Given the description of an element on the screen output the (x, y) to click on. 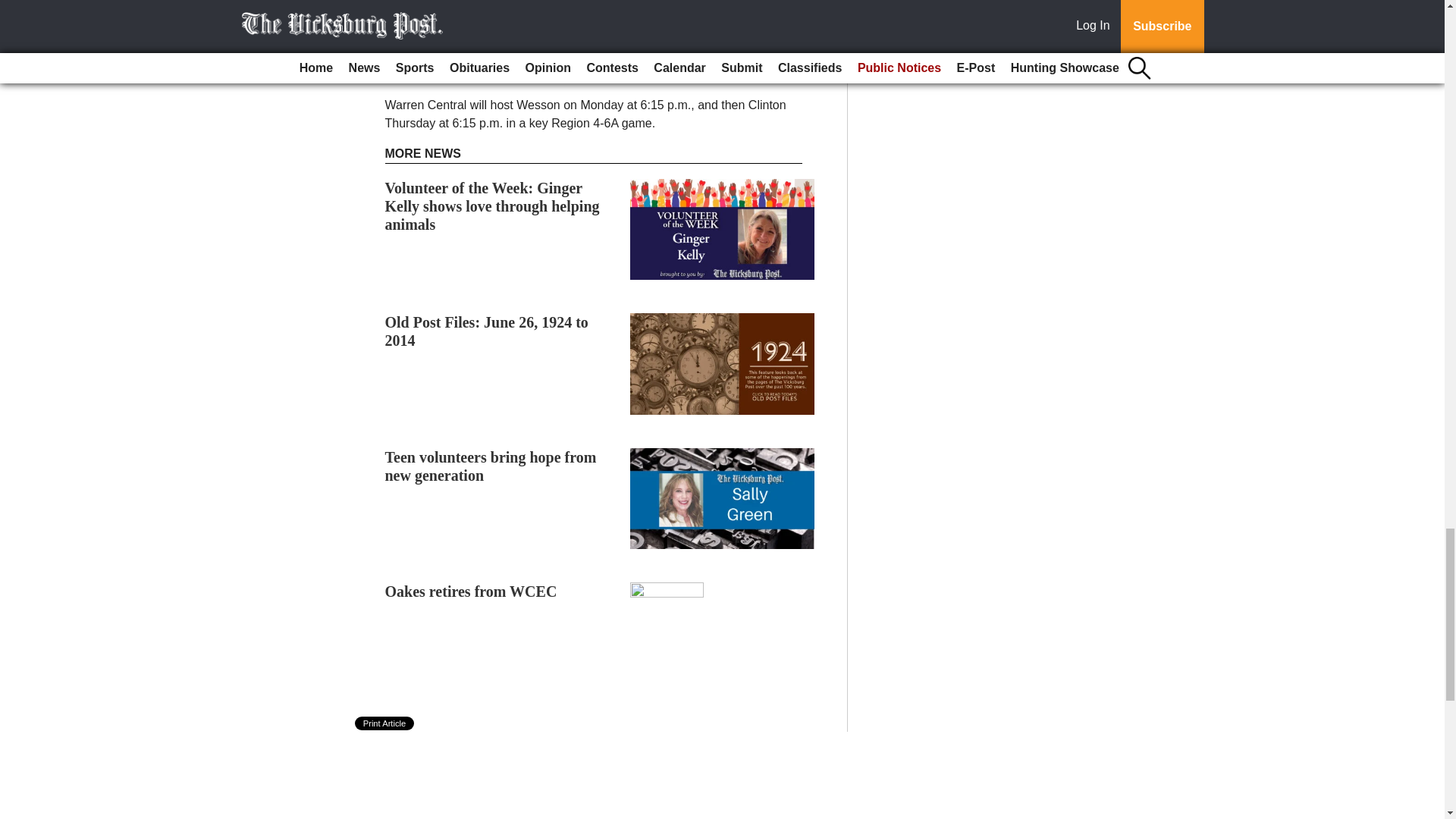
Print Article (384, 723)
Oakes retires from WCEC (471, 591)
Oakes retires from WCEC (471, 591)
Teen volunteers bring hope from new generation (490, 466)
Teen volunteers bring hope from new generation (490, 466)
Old Post Files: June 26, 1924 to 2014 (486, 330)
Old Post Files: June 26, 1924 to 2014 (486, 330)
